Given the description of an element on the screen output the (x, y) to click on. 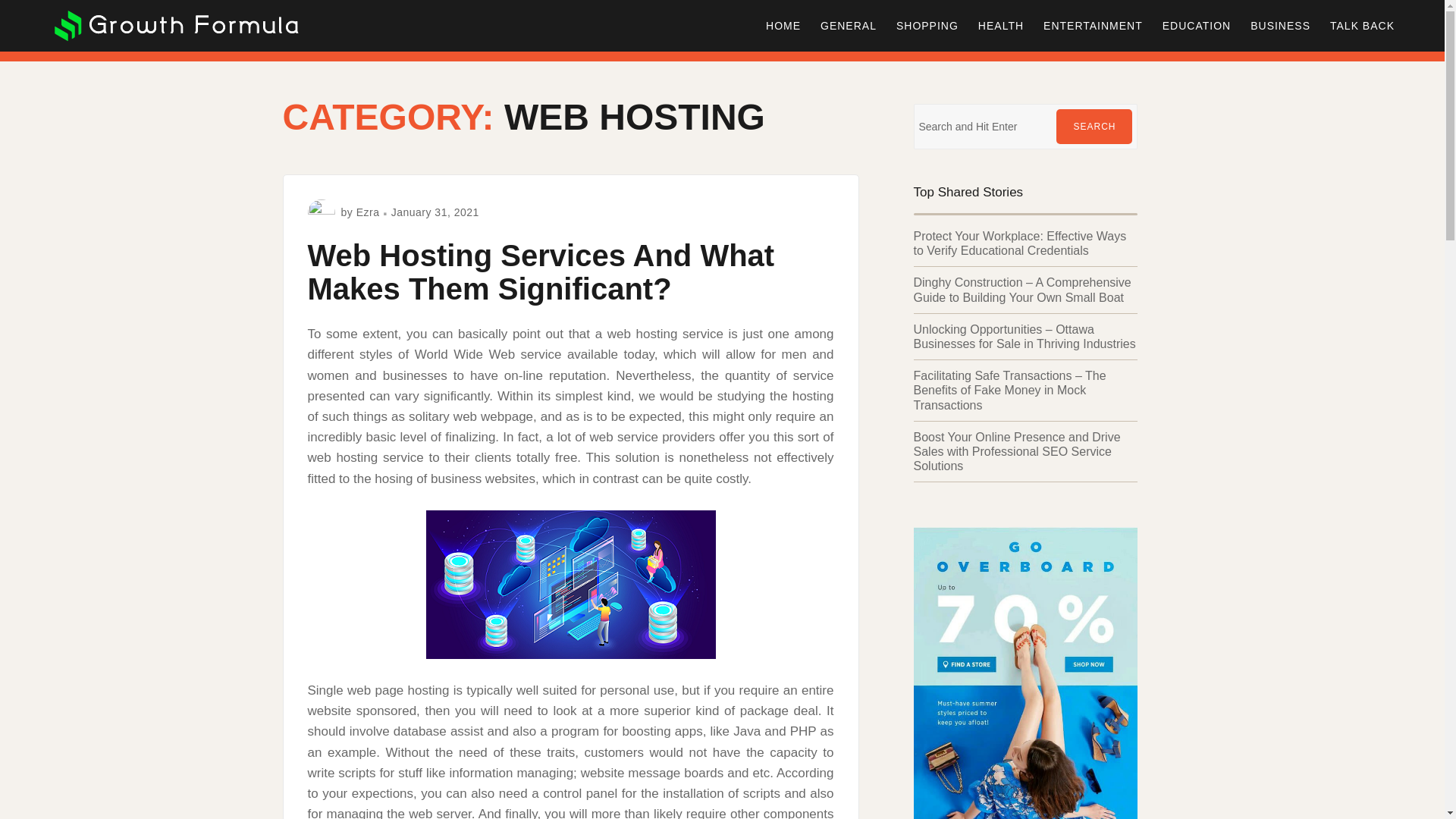
HEALTH (1000, 25)
Web Hosting Services And What Makes Them Significant? (540, 272)
January 31, 2021 (435, 212)
GENERAL (848, 25)
SHOPPING (927, 25)
ENTERTAINMENT (1093, 25)
BUSINESS (1280, 25)
HOME (782, 25)
